Given the description of an element on the screen output the (x, y) to click on. 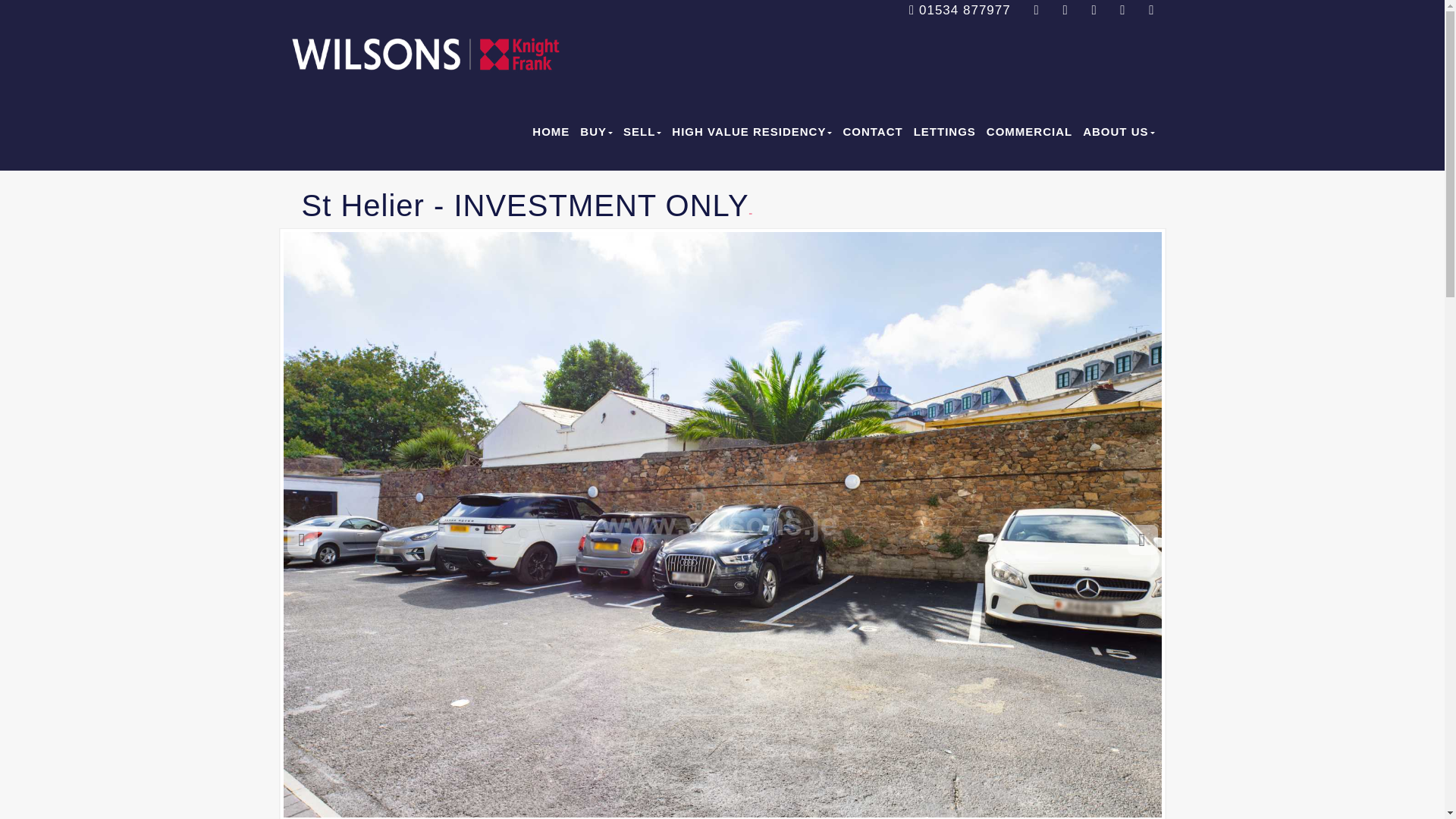
HOME (545, 131)
LinkedIn (1122, 10)
Email Us (1036, 10)
SELL (636, 131)
COMMERCIAL (1023, 131)
Facebook (1093, 10)
Contact Us (1064, 10)
CONTACT (866, 131)
LETTINGS (938, 131)
Call Us (959, 10)
Instagram (1151, 10)
01534 877977 (959, 10)
BUY (590, 131)
ABOUT US (1112, 131)
HIGH VALUE RESIDENCY (746, 131)
